Given the description of an element on the screen output the (x, y) to click on. 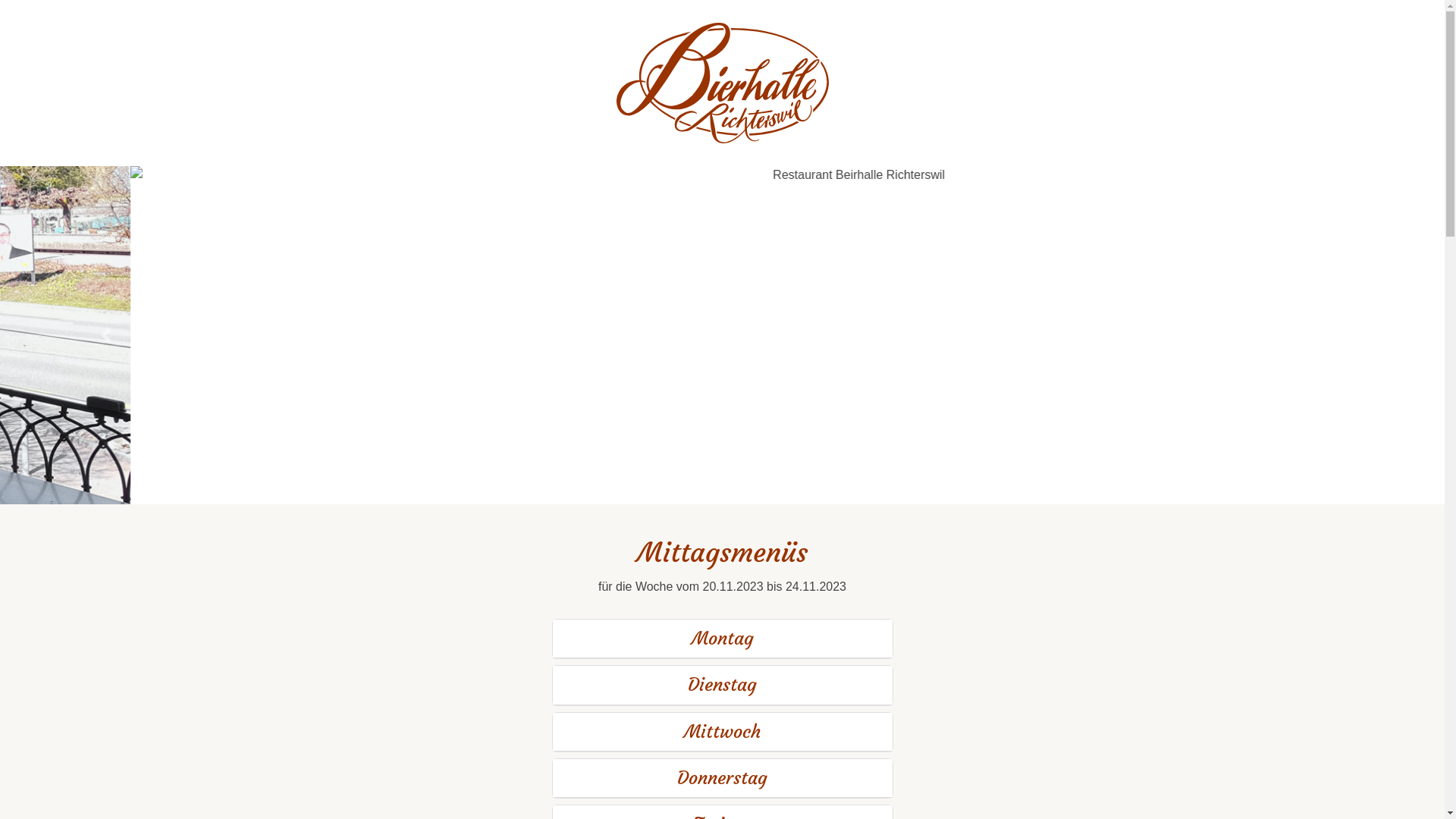
Previous Element type: text (108, 335)
Donnerstag Element type: text (721, 777)
Dienstag Element type: text (721, 684)
Montag Element type: text (721, 638)
Next Element type: text (1335, 335)
Mittwoch Element type: text (721, 731)
